Given the description of an element on the screen output the (x, y) to click on. 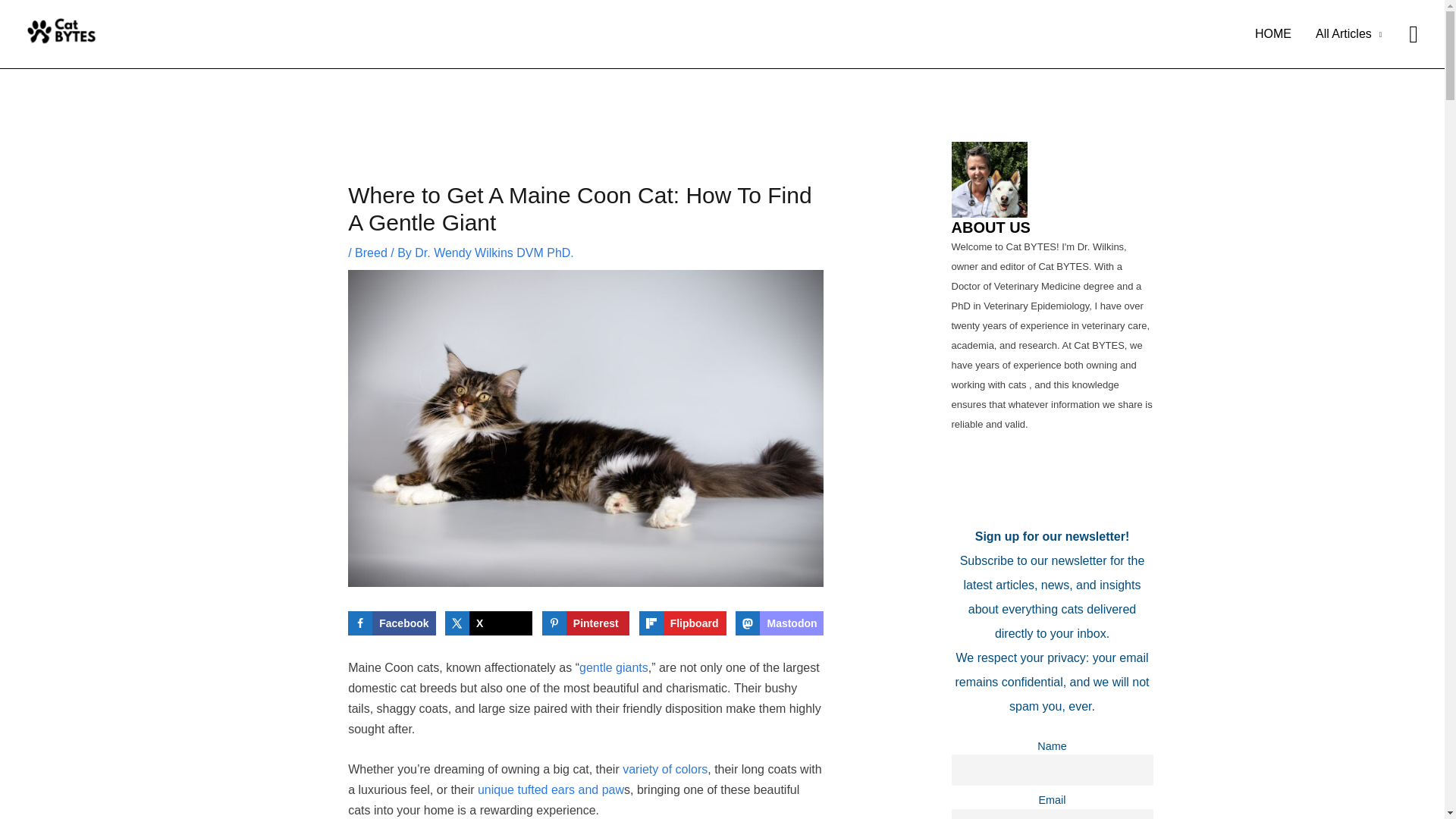
Flipboard (682, 622)
Share on Facebook (391, 622)
Mastodon (778, 622)
Share on X (488, 622)
Share on Mastodon (778, 622)
X (488, 622)
View all posts by Dr. Wendy Wilkins DVM PhD. (493, 252)
Facebook (391, 622)
Breed (371, 252)
Share on Flipboard (682, 622)
